Given the description of an element on the screen output the (x, y) to click on. 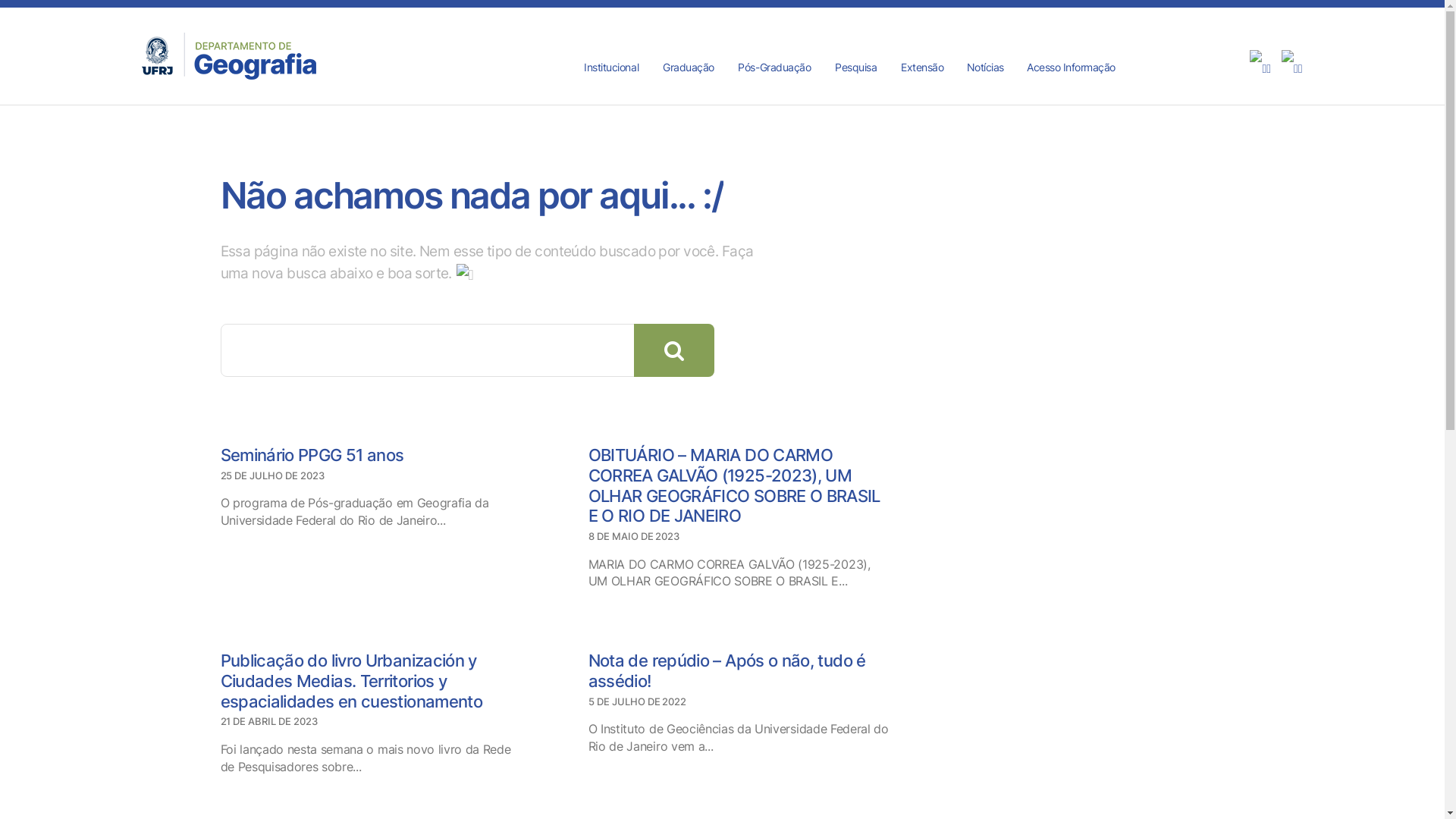
Pesquisa Element type: text (856, 67)
Institucional Element type: text (611, 67)
